Given the description of an element on the screen output the (x, y) to click on. 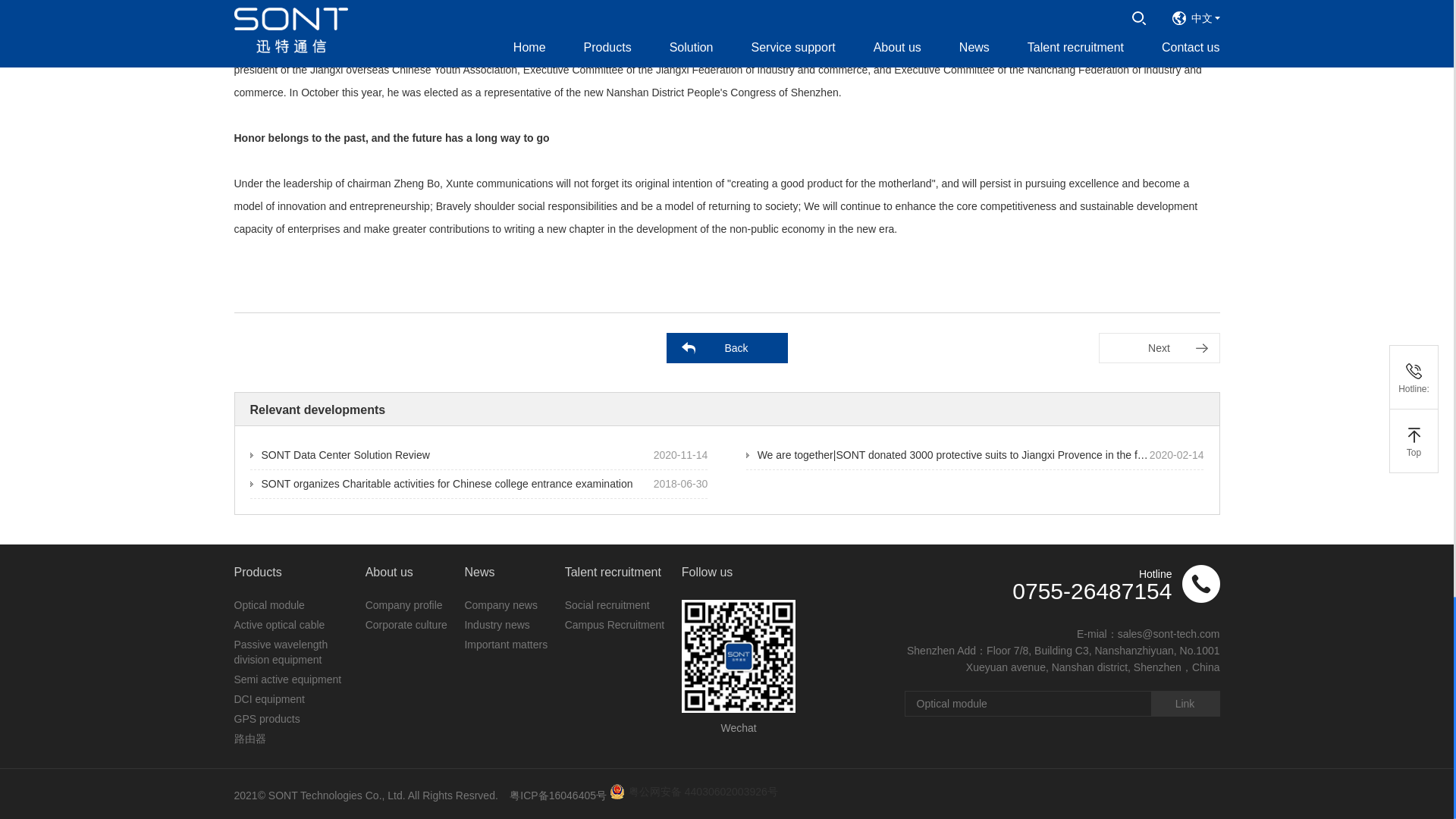
SONT Data Center Solution Review (339, 454)
GPS products (265, 718)
Semi active equipment (286, 679)
Passive wavelength division equipment (279, 651)
Social recruitment (606, 604)
Optical module (268, 604)
Company profile (403, 604)
Next (1158, 347)
SONT Data Center Solution Review (339, 454)
Active optical cable (278, 624)
SONT Data Center Solution Review (1158, 347)
Important matters (505, 644)
Back (726, 347)
Industry news (496, 624)
